Given the description of an element on the screen output the (x, y) to click on. 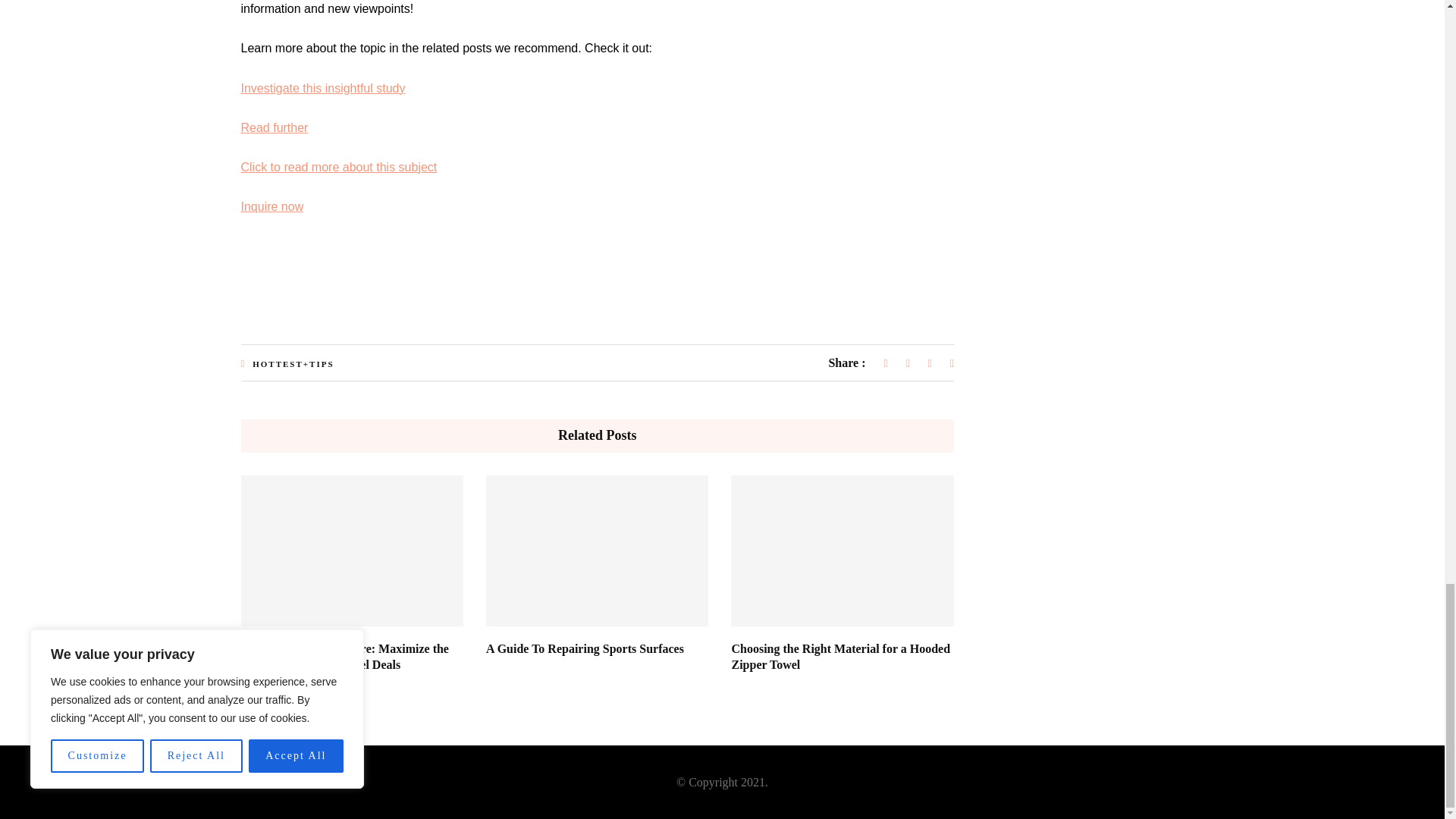
Investigate this insightful study (323, 88)
Inquire now (272, 205)
Click to read more about this subject (339, 166)
Read further (274, 127)
A Guide To Repairing Sports Surfaces (585, 648)
Choosing the Right Material for a Hooded Zipper Towel (840, 656)
